Given the description of an element on the screen output the (x, y) to click on. 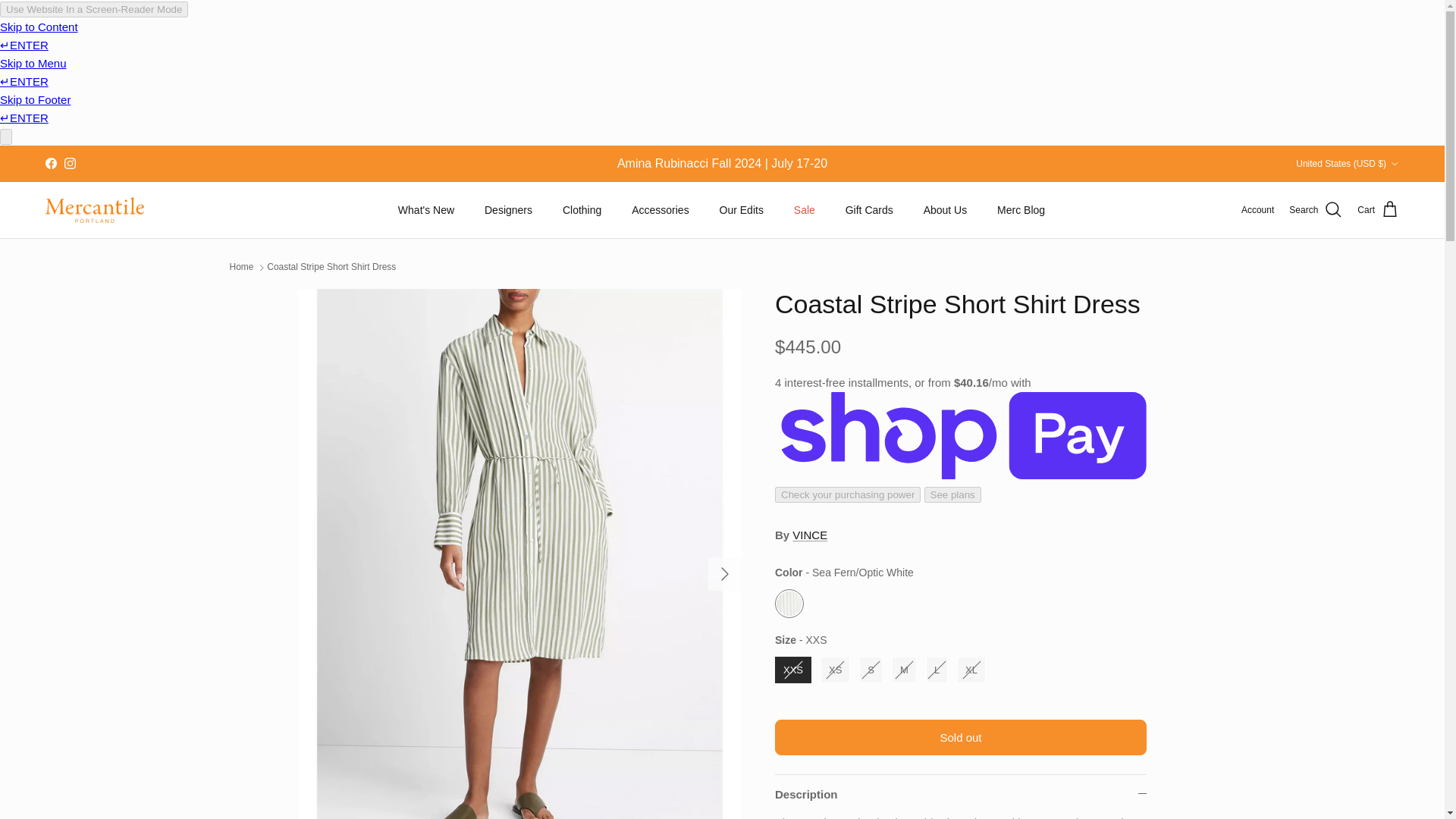
Mercantile Portland (94, 210)
Facebook (50, 163)
What's New (425, 210)
Sale (804, 210)
Designers (508, 210)
Our Edits (741, 210)
Clothing (581, 210)
Mercantile Portland on Instagram (69, 163)
Account (1257, 210)
Instagram (69, 163)
Gift Cards (869, 210)
Merc Blog (1021, 210)
Accessories (659, 210)
About Us (945, 210)
Search (1315, 209)
